Given the description of an element on the screen output the (x, y) to click on. 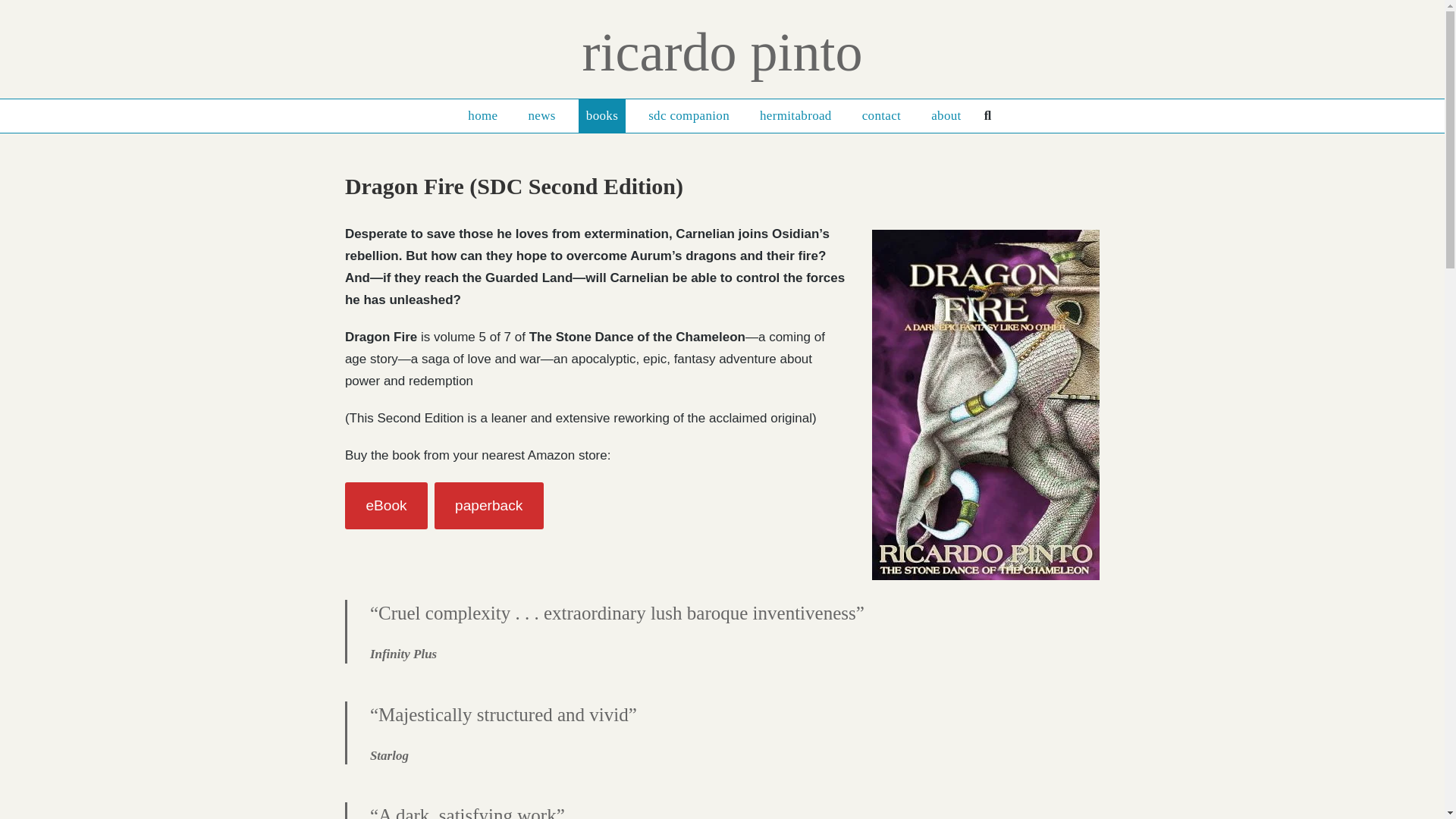
eBook (386, 505)
sdc companion (688, 115)
ricardo pinto (722, 52)
contact (881, 115)
about (945, 115)
paperback (488, 505)
books (602, 115)
hermitabroad (796, 115)
home (482, 115)
news (540, 115)
